Given the description of an element on the screen output the (x, y) to click on. 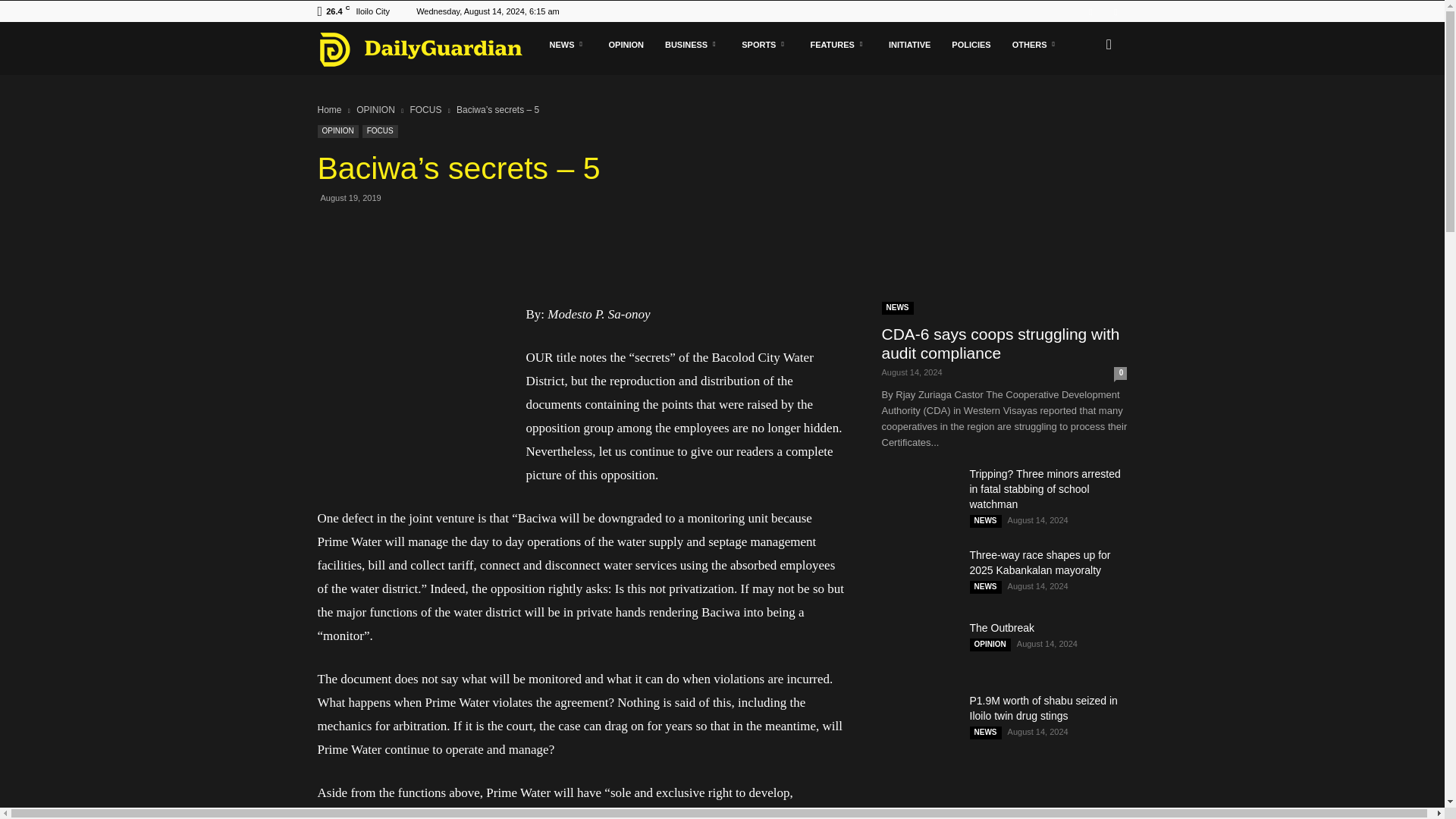
Twitter (1114, 11)
Daily Guardian (427, 48)
We write, you decide. (419, 48)
NEWS (567, 44)
Facebook (1090, 11)
